Given the description of an element on the screen output the (x, y) to click on. 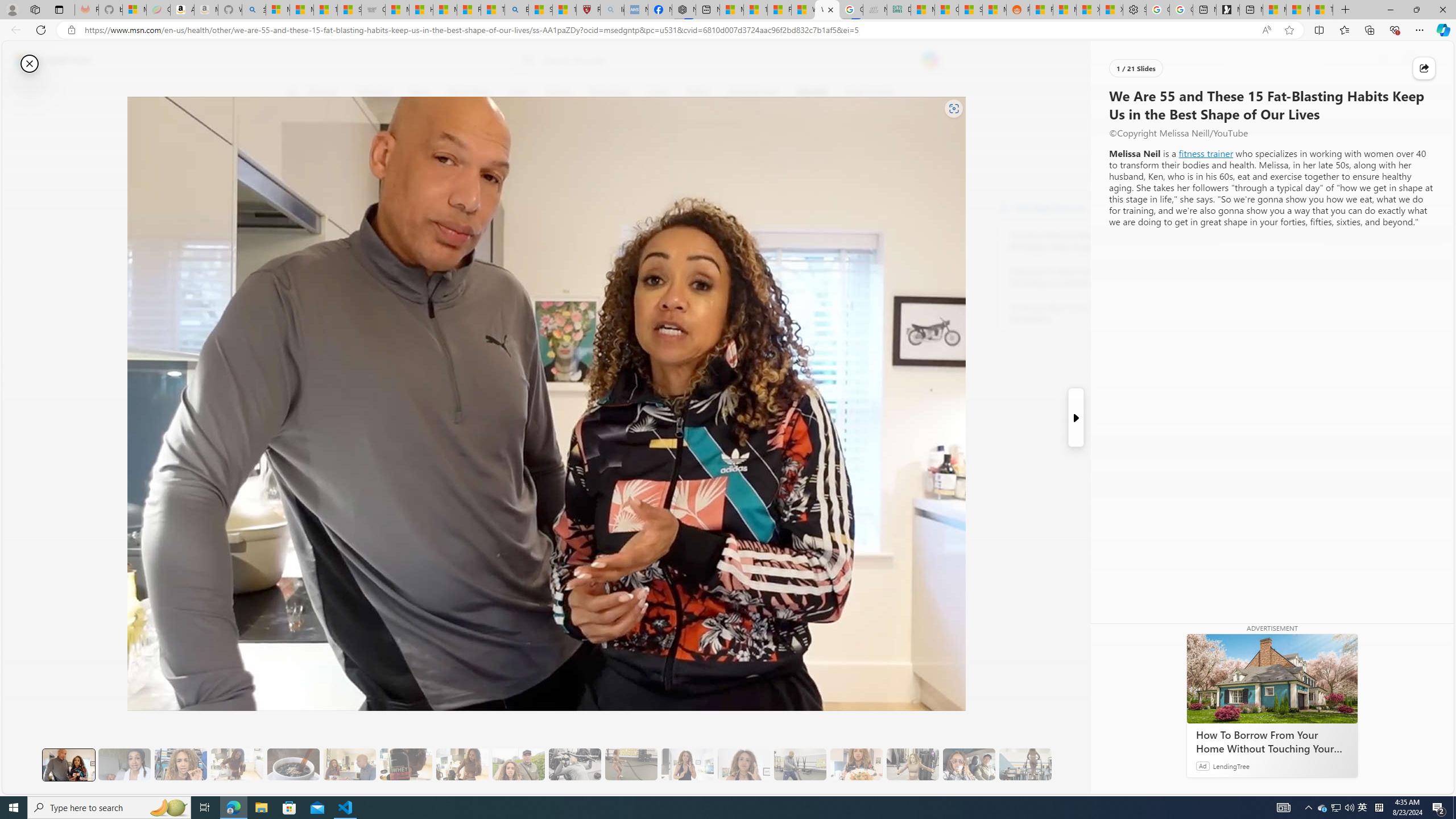
8 Be Mindful of Coffee (293, 764)
Fitness - MSN (779, 9)
13 Her Husband Does Group Cardio Classs (800, 764)
6 (299, 170)
Politics (698, 92)
